Given the description of an element on the screen output the (x, y) to click on. 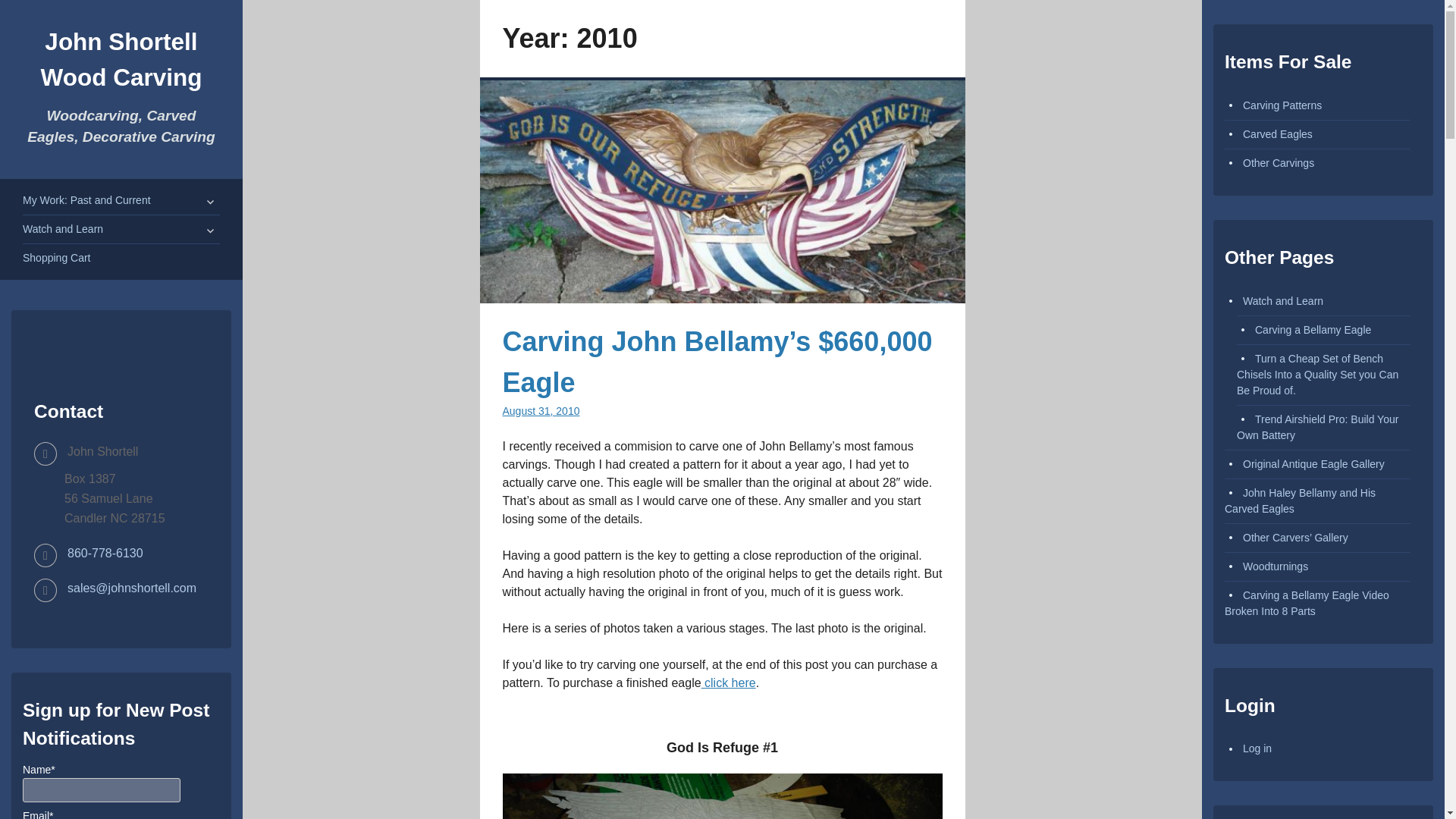
expand child menu (210, 201)
860-778-6130 (104, 552)
expand child menu (210, 230)
John Shortell Wood Carving (121, 58)
My Work: Past and Current (87, 200)
Watch and Learn (63, 228)
Shopping Cart (56, 257)
